Given the description of an element on the screen output the (x, y) to click on. 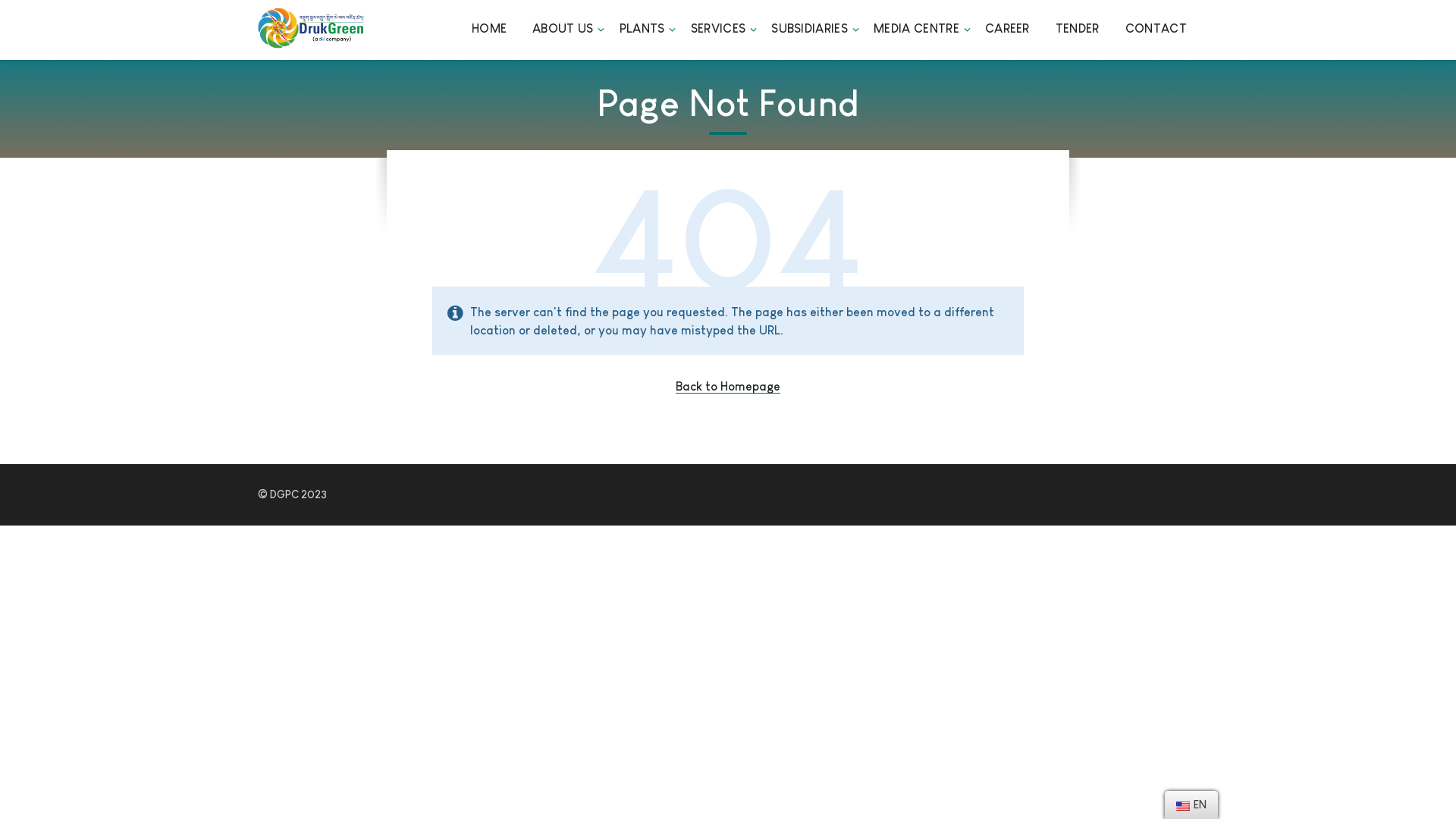
PLANTS Element type: text (642, 29)
HOME Element type: text (488, 29)
SERVICES Element type: text (718, 29)
SUBSIDIARIES Element type: text (809, 29)
TENDER Element type: text (1077, 29)
CONTACT Element type: text (1155, 29)
ABOUT US Element type: text (562, 29)
CAREER Element type: text (1007, 29)
MEDIA CENTRE Element type: text (916, 29)
English Element type: hover (1182, 805)
Back to Homepage Element type: text (727, 385)
